Given the description of an element on the screen output the (x, y) to click on. 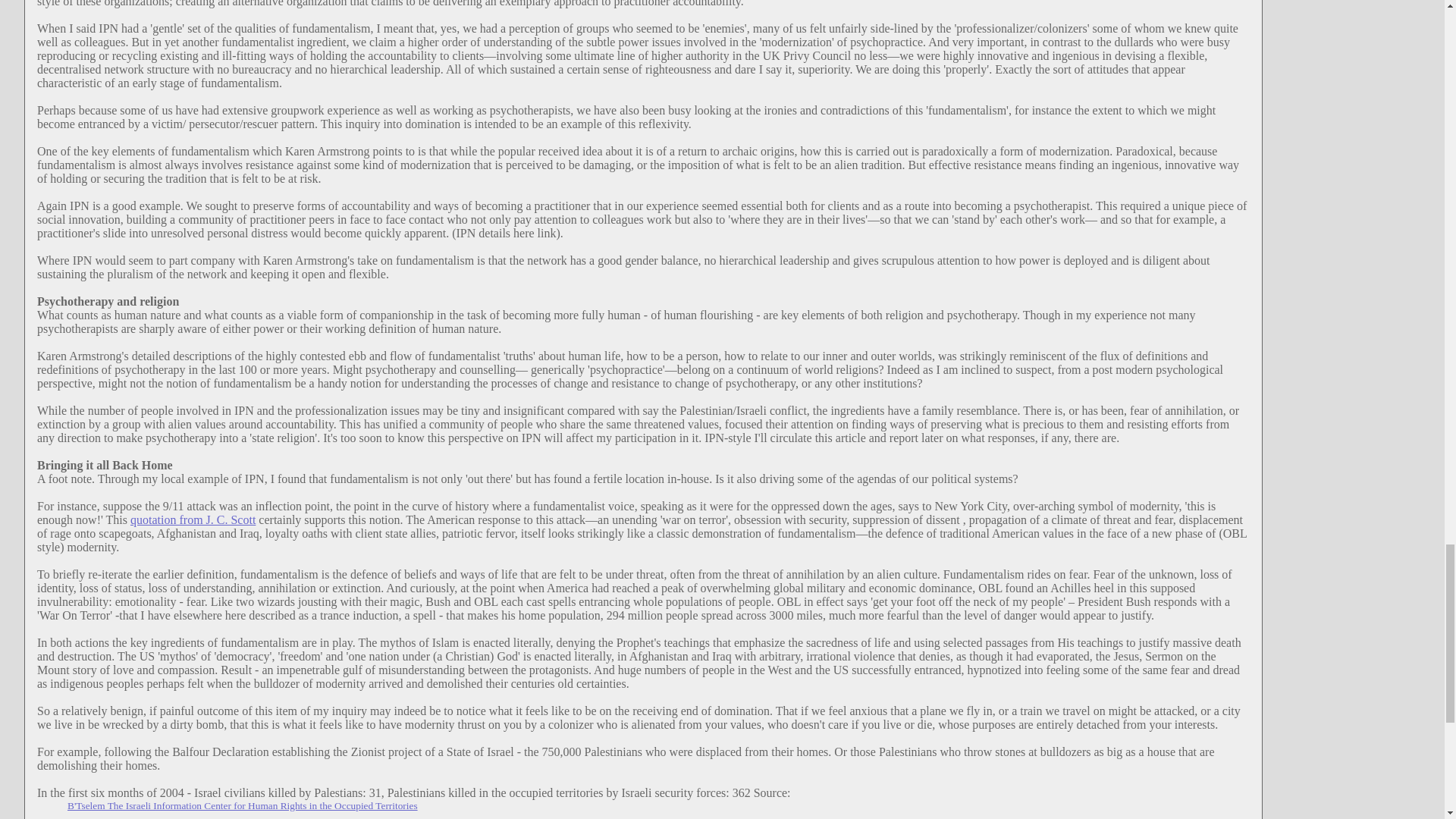
quotation from J. C. Scott (193, 519)
